Given the description of an element on the screen output the (x, y) to click on. 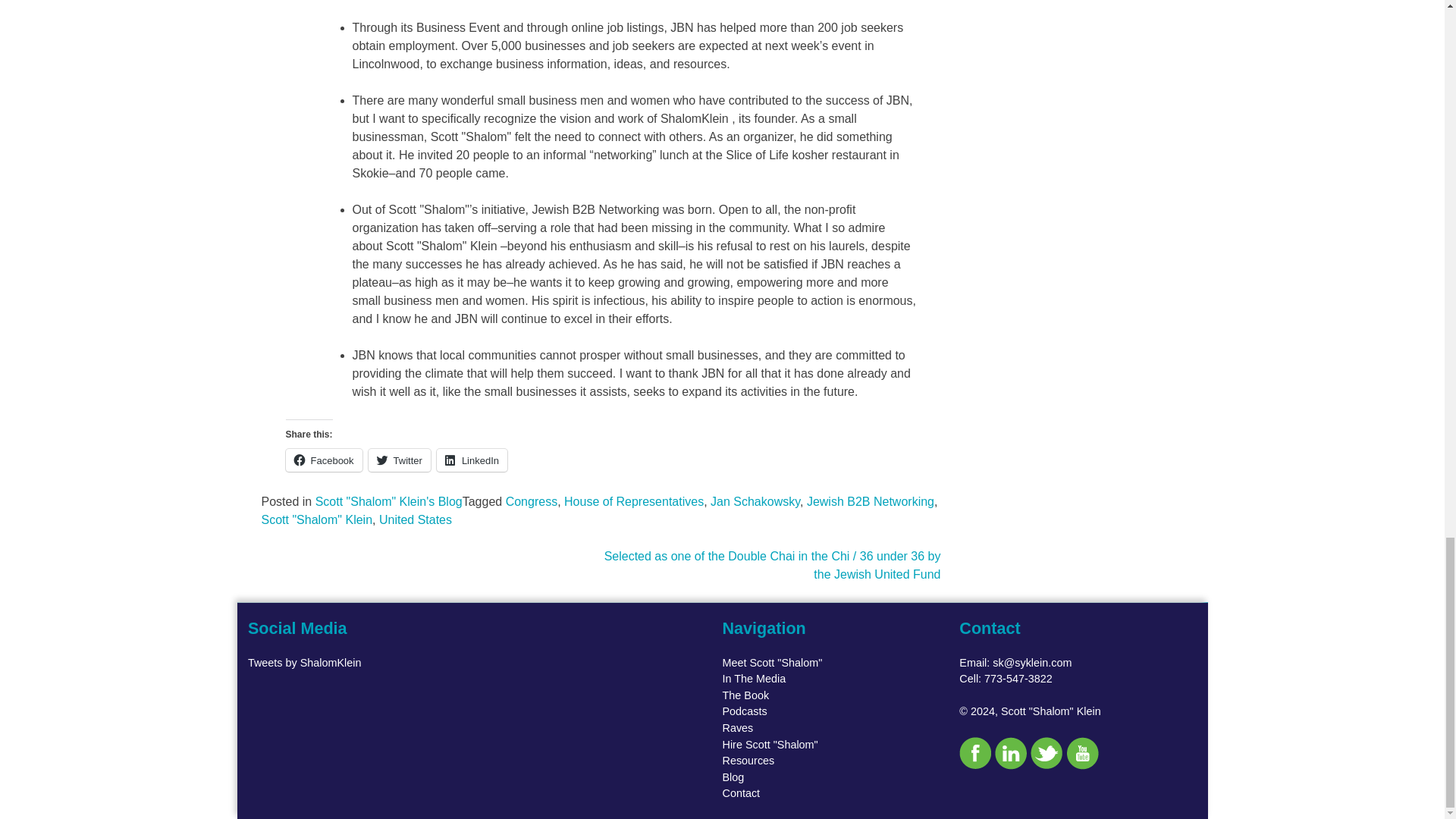
Jan Schakowsky (754, 501)
LinkedIn (471, 459)
House of Representatives (633, 501)
United States (414, 519)
Click to share on Facebook (323, 459)
Click to share on Twitter (399, 459)
Twitter (399, 459)
Click to share on LinkedIn (471, 459)
Jewish B2B Networking (870, 501)
Facebook (323, 459)
Congress (531, 501)
Scott "Shalom" Klein's Blog (389, 501)
Scott "Shalom" Klein (316, 519)
